Given the description of an element on the screen output the (x, y) to click on. 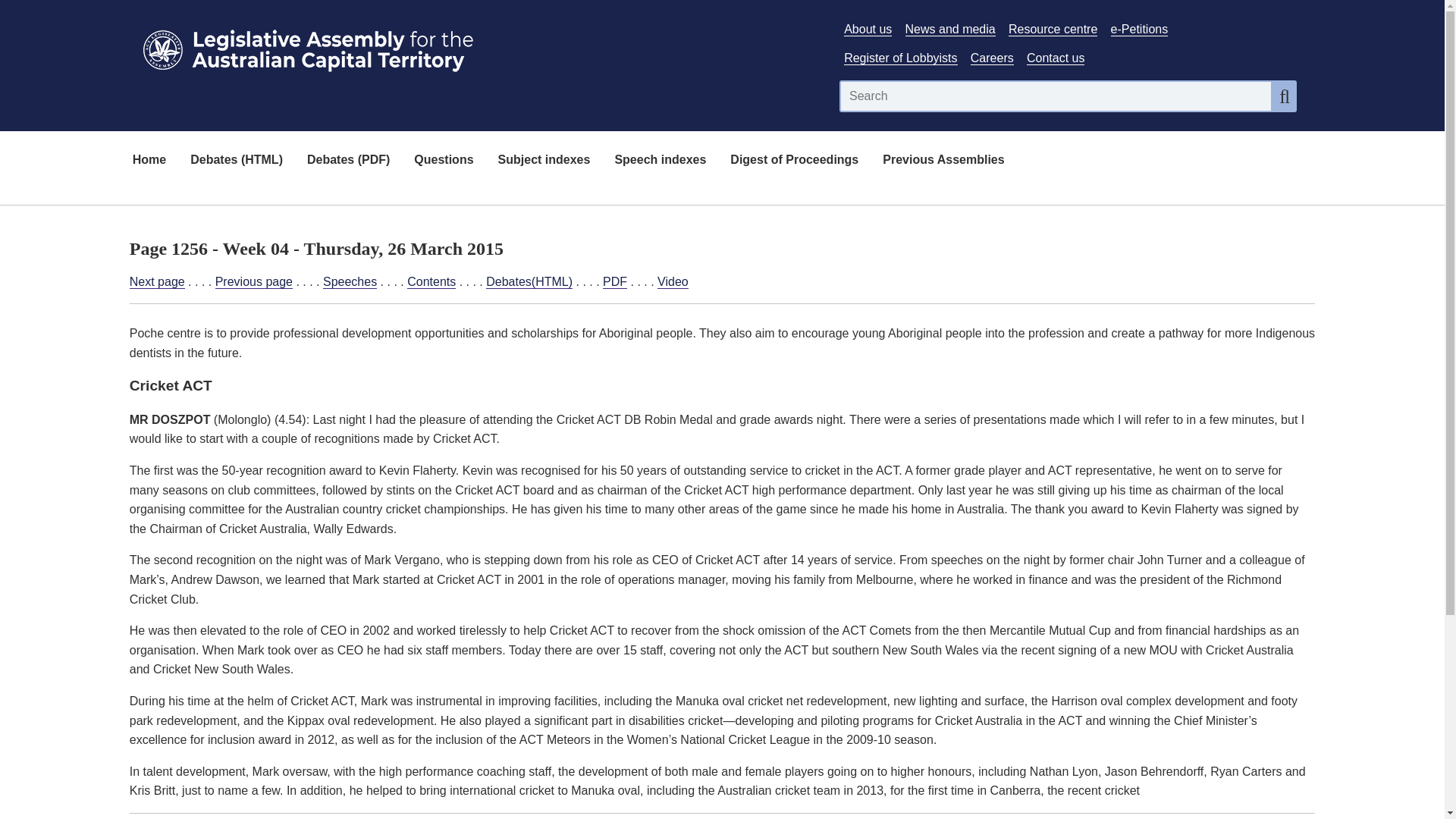
Link to Homepage (475, 46)
About us (867, 29)
Video (673, 282)
Search input field (1056, 96)
Previous page (253, 282)
Register of Lobbyists (900, 58)
Subject indexes (544, 160)
Link to e-Petitions (1139, 29)
Digest of Proceedings (793, 160)
Link to Careers (992, 58)
Careers (992, 58)
Home (148, 160)
Contents (431, 282)
PDF (614, 282)
Next page (156, 282)
